Given the description of an element on the screen output the (x, y) to click on. 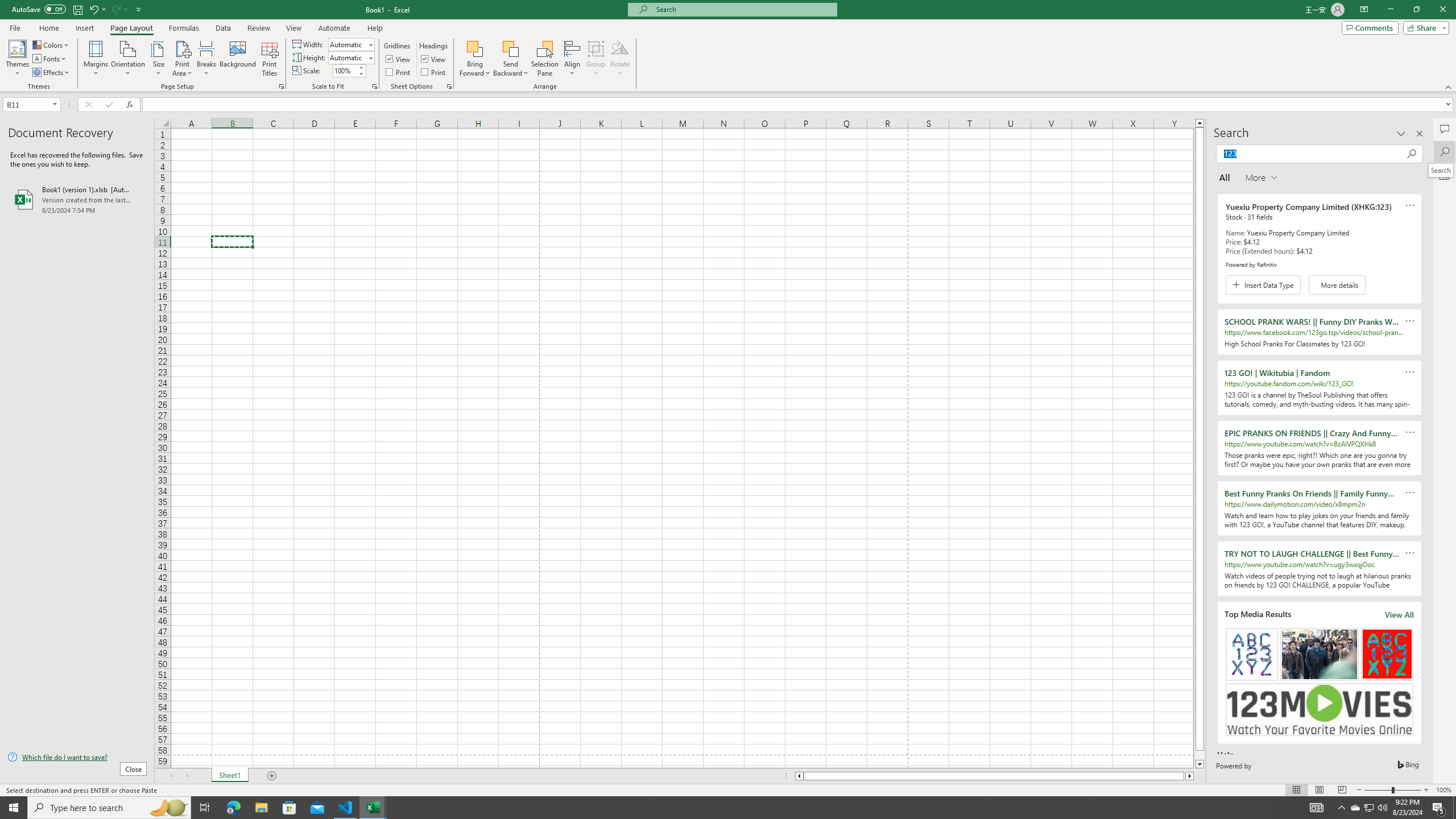
Width (350, 44)
Fonts (49, 58)
Analyze Data (1444, 173)
Background... (237, 58)
Scale (344, 70)
Orientation (128, 58)
Colors (51, 44)
Which file do I want to save? (77, 757)
